Given the description of an element on the screen output the (x, y) to click on. 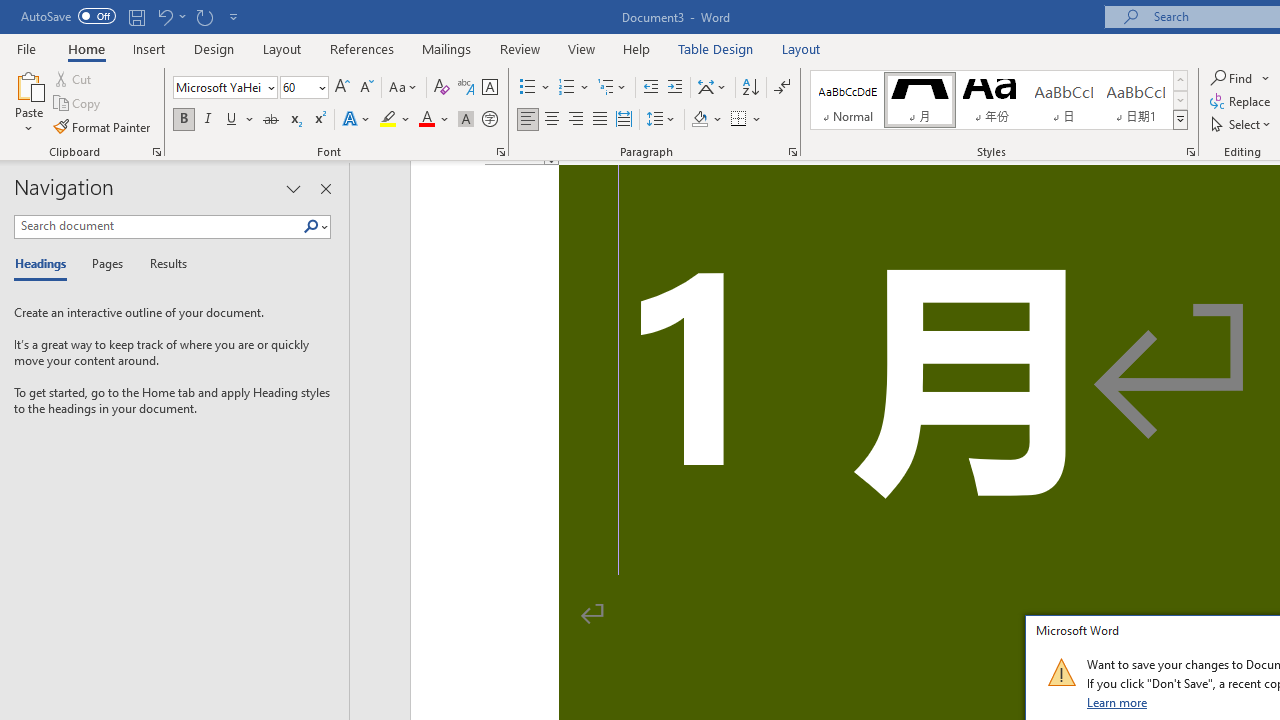
Distributed (623, 119)
Office Clipboard... (156, 151)
Align Left (527, 119)
Increase Indent (675, 87)
Replace... (1242, 101)
Search document (157, 226)
Format Painter (103, 126)
Table Design (715, 48)
